Given the description of an element on the screen output the (x, y) to click on. 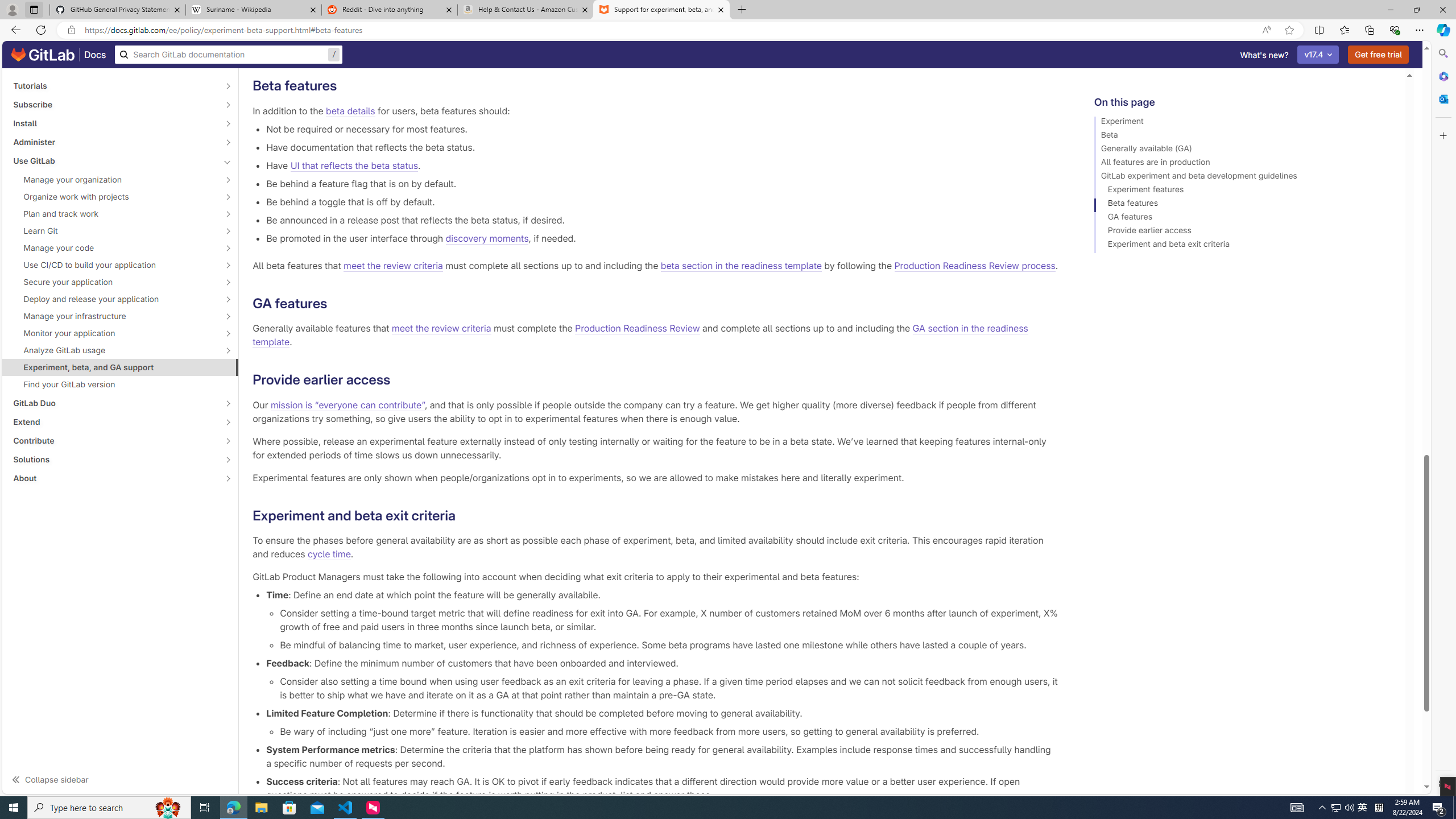
Reddit - Dive into anything (390, 9)
Administer (113, 141)
Suriname - Wikipedia (253, 9)
Be behind a toggle that is off by default. (662, 201)
Have documentation that reflects the beta status. (662, 146)
GA features (1244, 218)
Use CI/CD to build your application (113, 264)
What's new? (1263, 54)
